Given the description of an element on the screen output the (x, y) to click on. 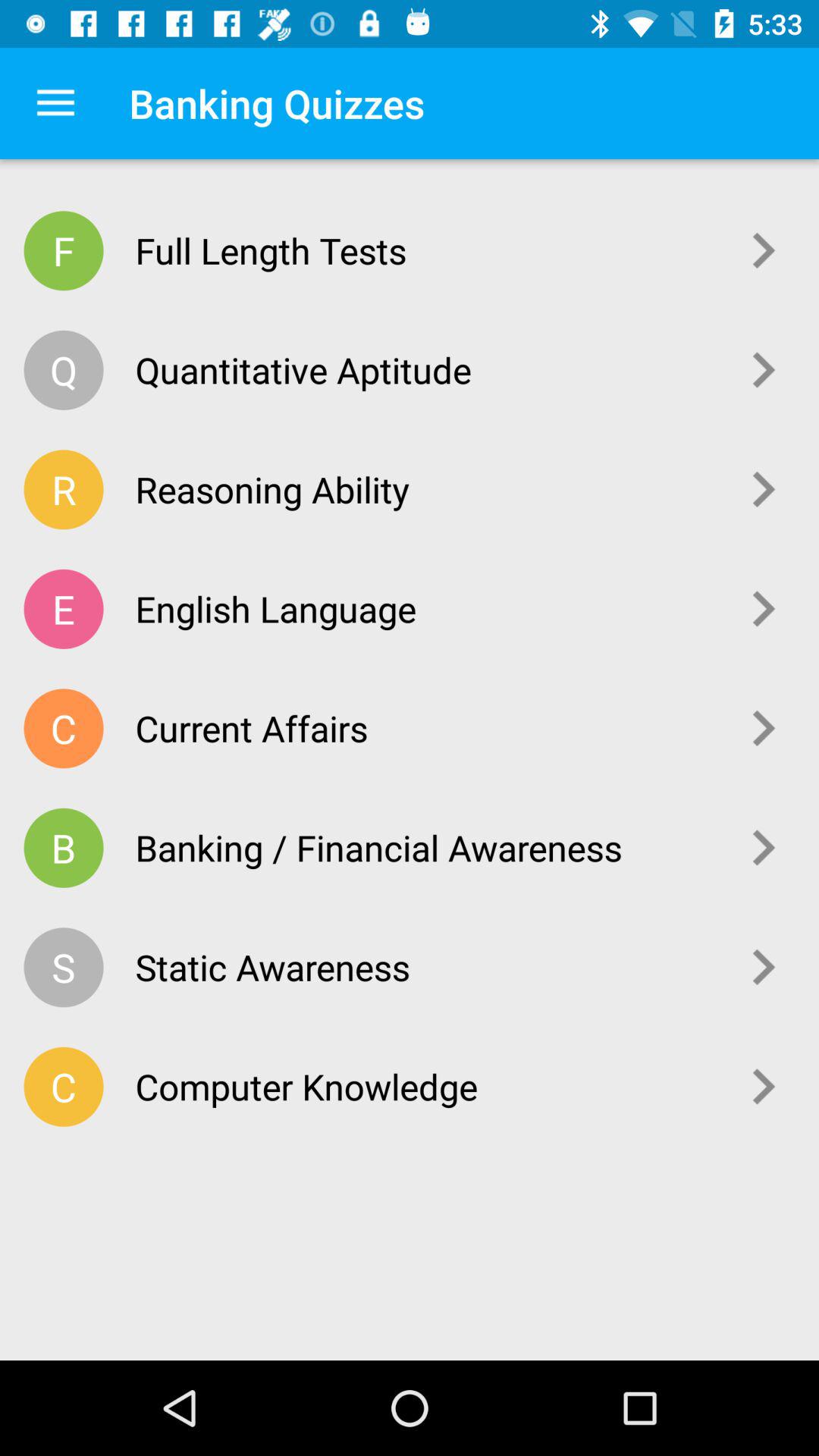
turn on the icon above e (63, 489)
